Given the description of an element on the screen output the (x, y) to click on. 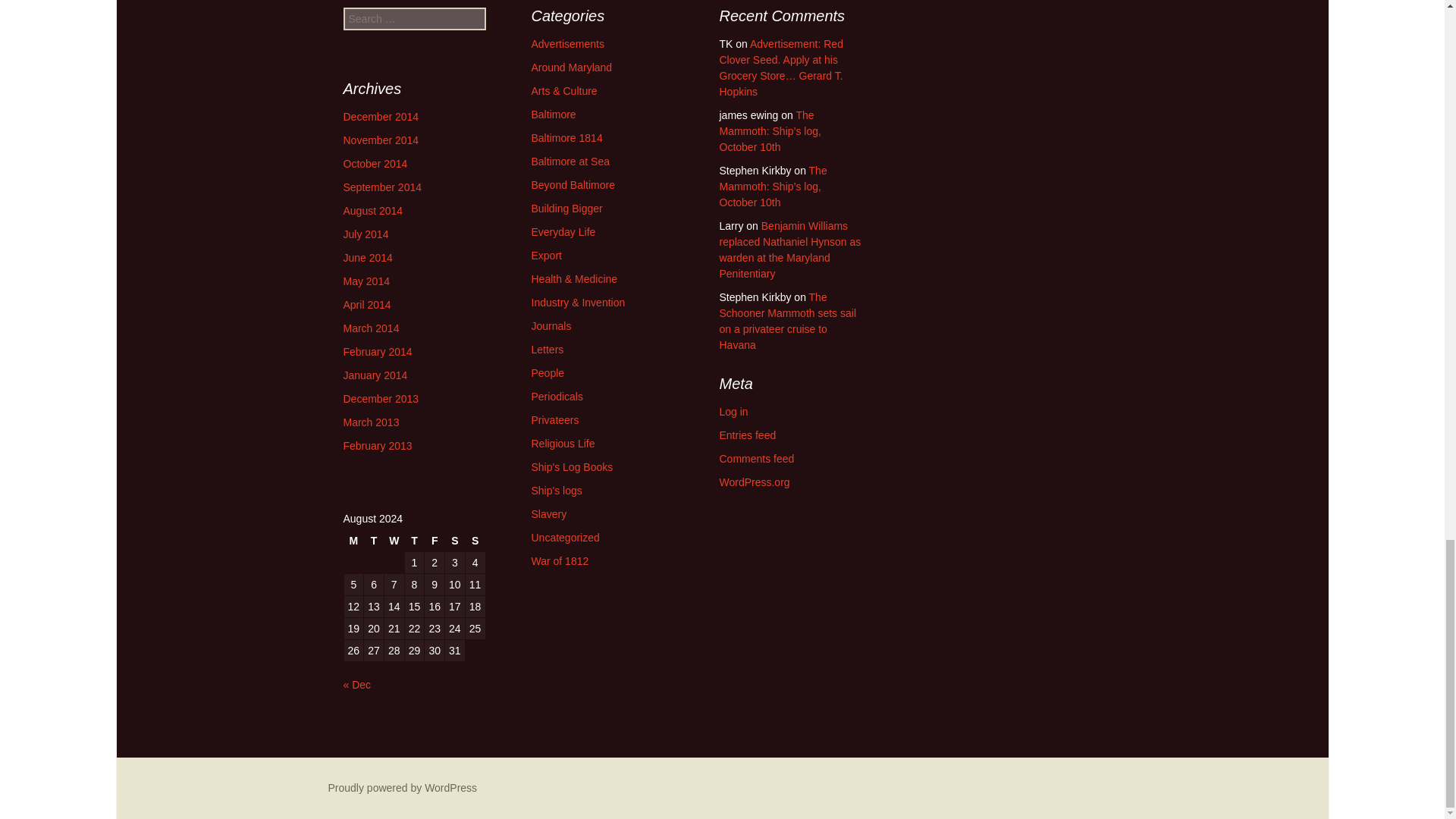
Building Bigger (566, 208)
Baltimore 1814 (566, 137)
Export (545, 255)
Baltimore (553, 114)
Baltimore at Sea (570, 161)
Tuesday (374, 540)
Advertisements (567, 43)
Everyday Life (563, 232)
Monday (353, 540)
Around Maryland (571, 67)
